Given the description of an element on the screen output the (x, y) to click on. 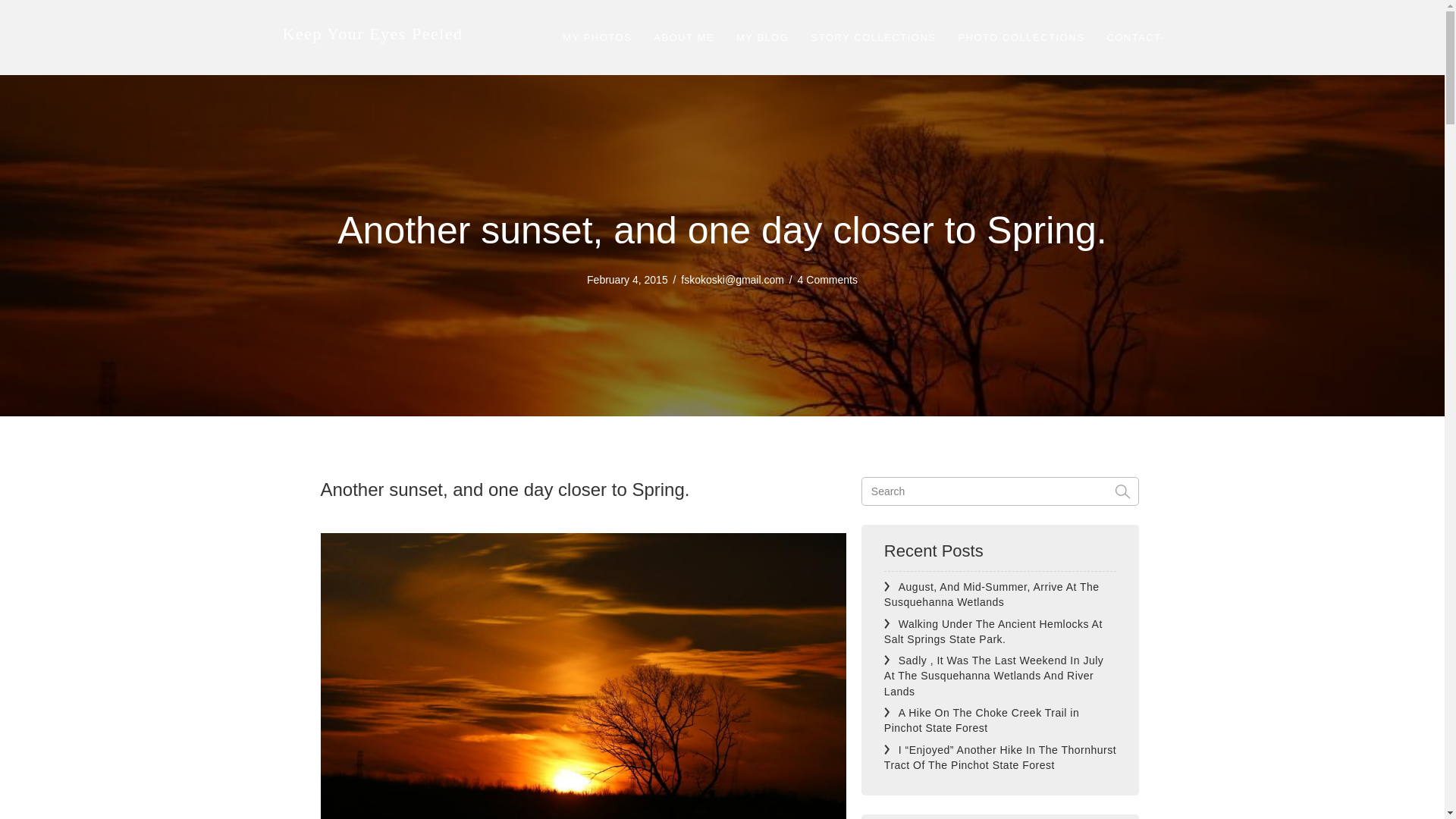
4 Comments (827, 279)
August, And Mid-Summer, Arrive At The Susquehanna Wetlands (991, 594)
Keep Your Eyes Peeled (372, 33)
Search (1000, 491)
Keep Your Eyes Peeled (372, 33)
CONTACT- (1135, 38)
MY BLOG (762, 38)
A Hike On The Choke Creek Trail in Pinchot State Forest (980, 719)
